Given the description of an element on the screen output the (x, y) to click on. 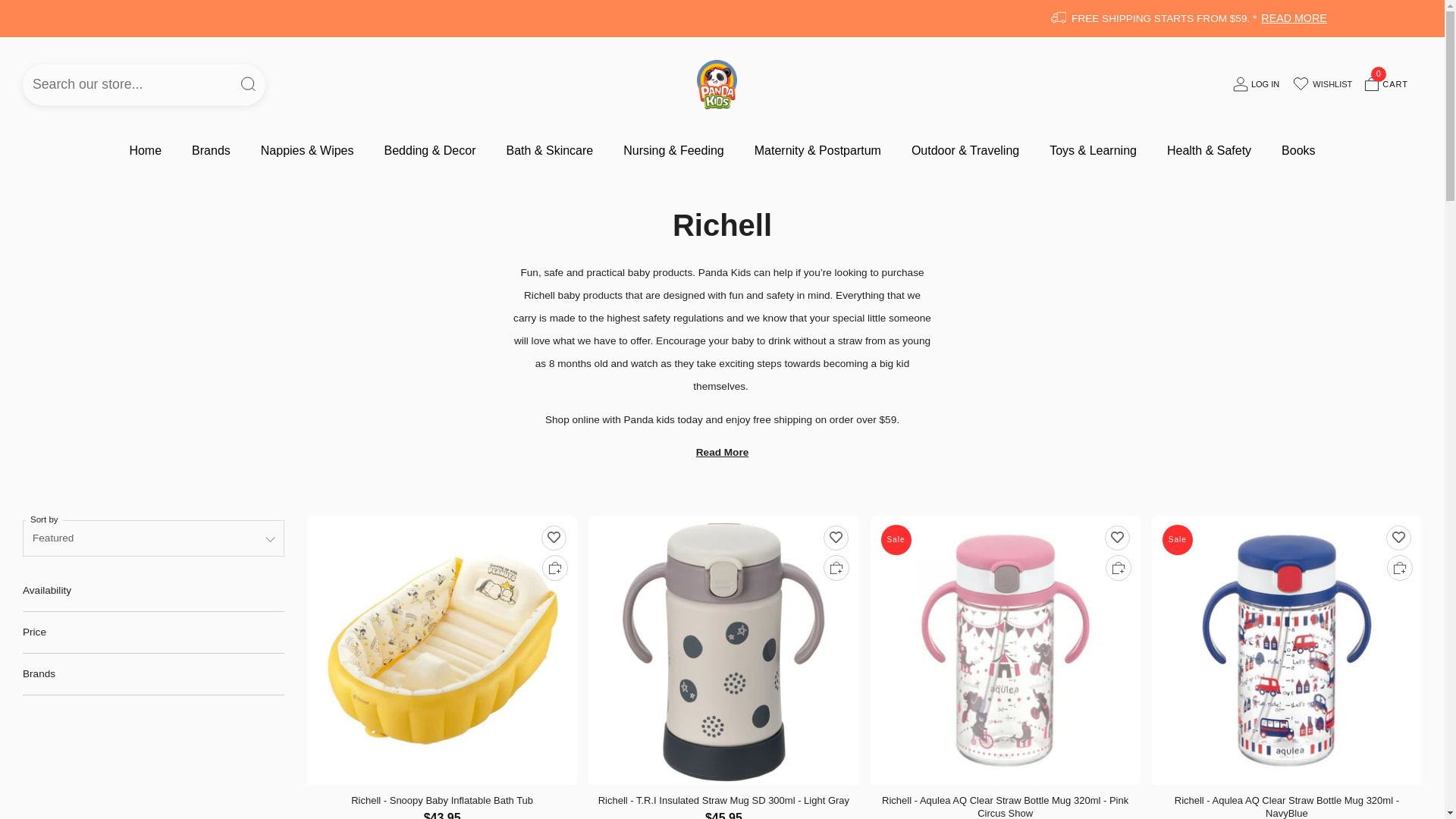
Brands (211, 150)
Brands (1385, 84)
Home (211, 150)
LOG IN (144, 150)
Home (1256, 84)
READ MORE (144, 150)
